Given the description of an element on the screen output the (x, y) to click on. 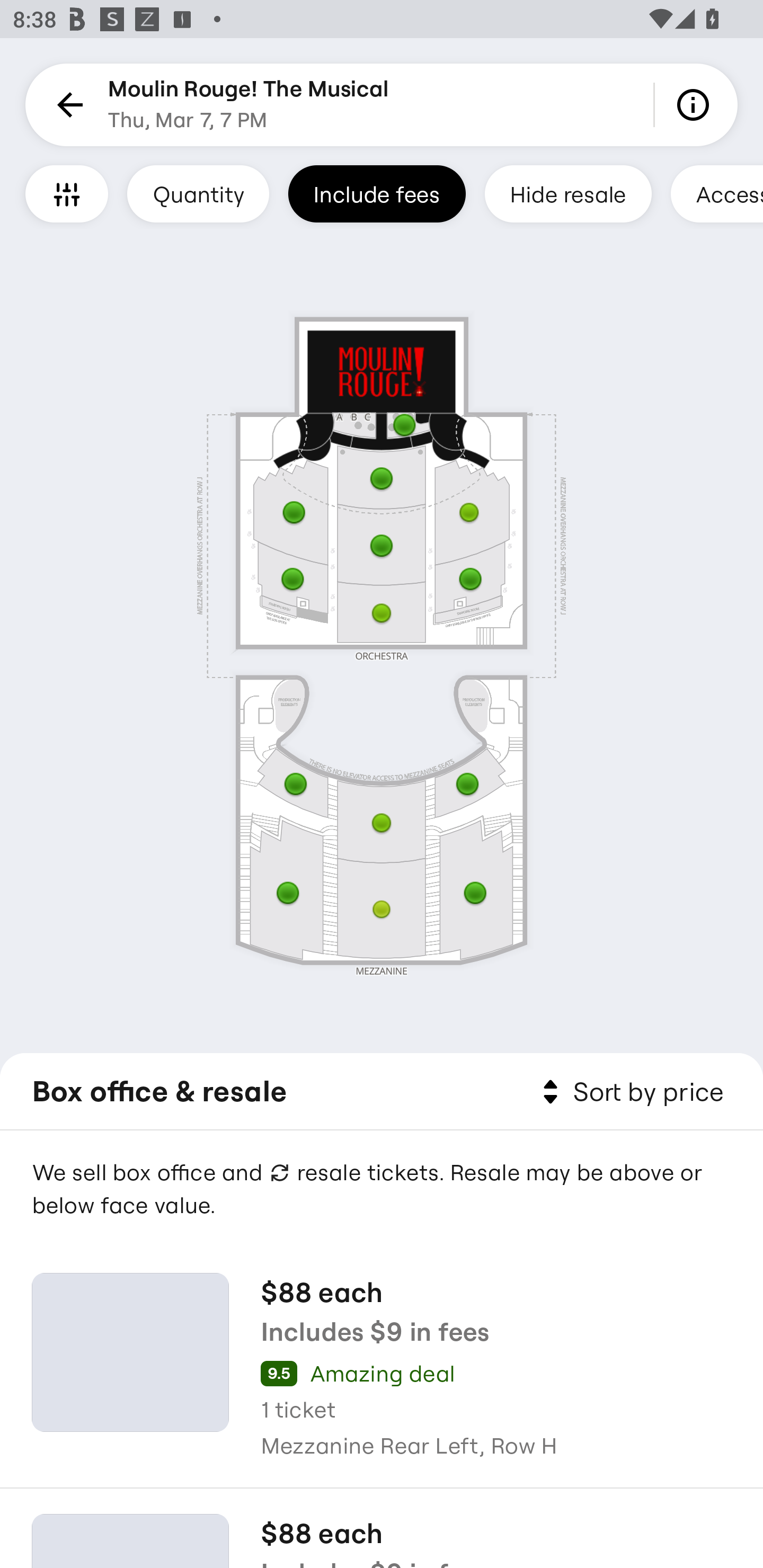
Back (66, 104)
Moulin Rouge! The Musical Thu, Mar 7, 7 PM (248, 104)
Info (695, 104)
Filters and Accessible Seating (66, 193)
Quantity (198, 193)
Include fees (376, 193)
Hide resale (567, 193)
Sort by price (629, 1091)
